Given the description of an element on the screen output the (x, y) to click on. 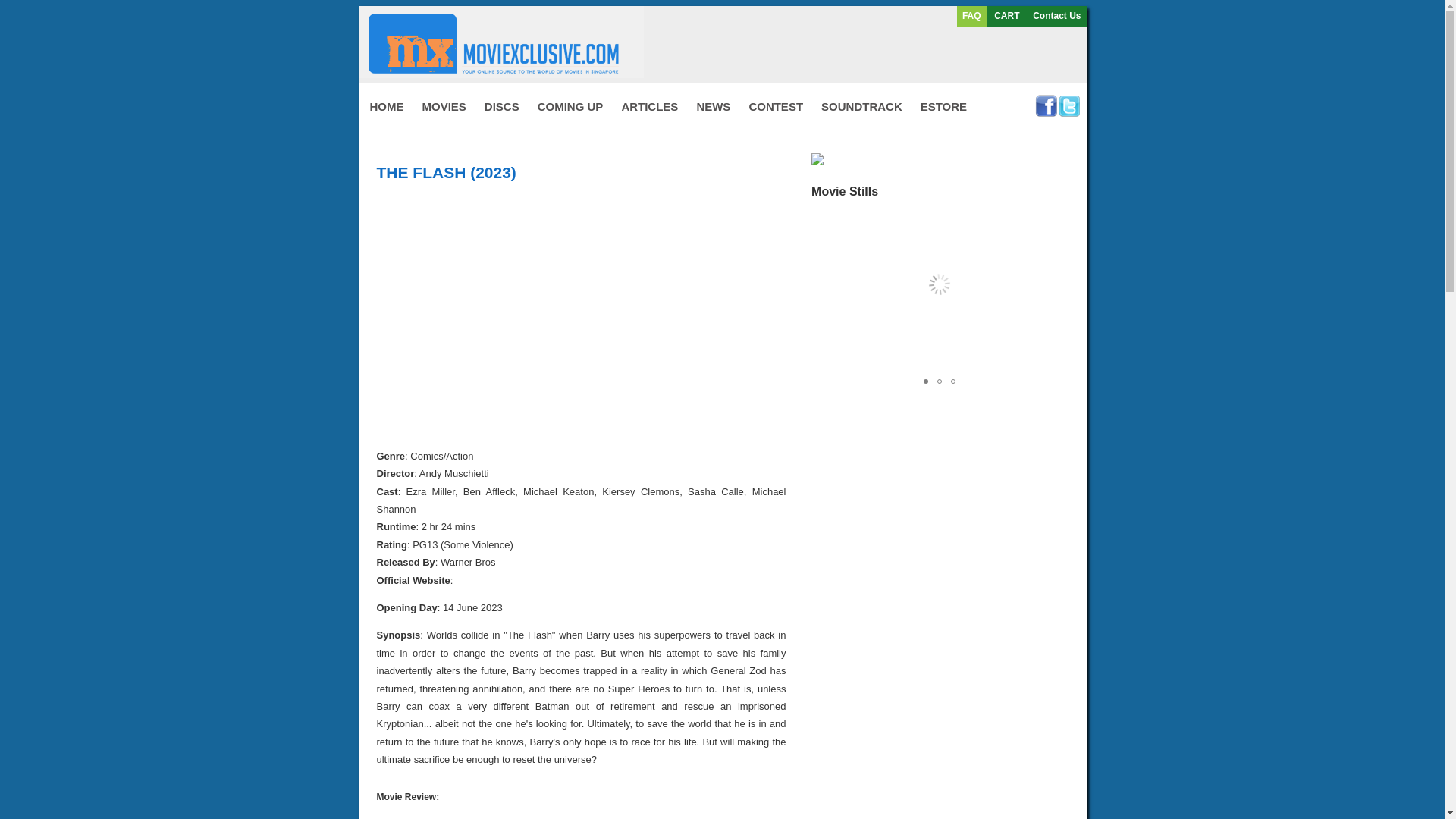
MOVIES (443, 105)
HOME (385, 105)
YouTube video player (587, 311)
COMING UP (570, 105)
FAQ (971, 15)
ESTORE (943, 105)
ARTICLES (649, 105)
DISCS (502, 105)
CART (1006, 15)
CONTEST (775, 105)
SOUNDTRACK (861, 105)
NEWS (713, 105)
Contact Us (1056, 15)
